Given the description of an element on the screen output the (x, y) to click on. 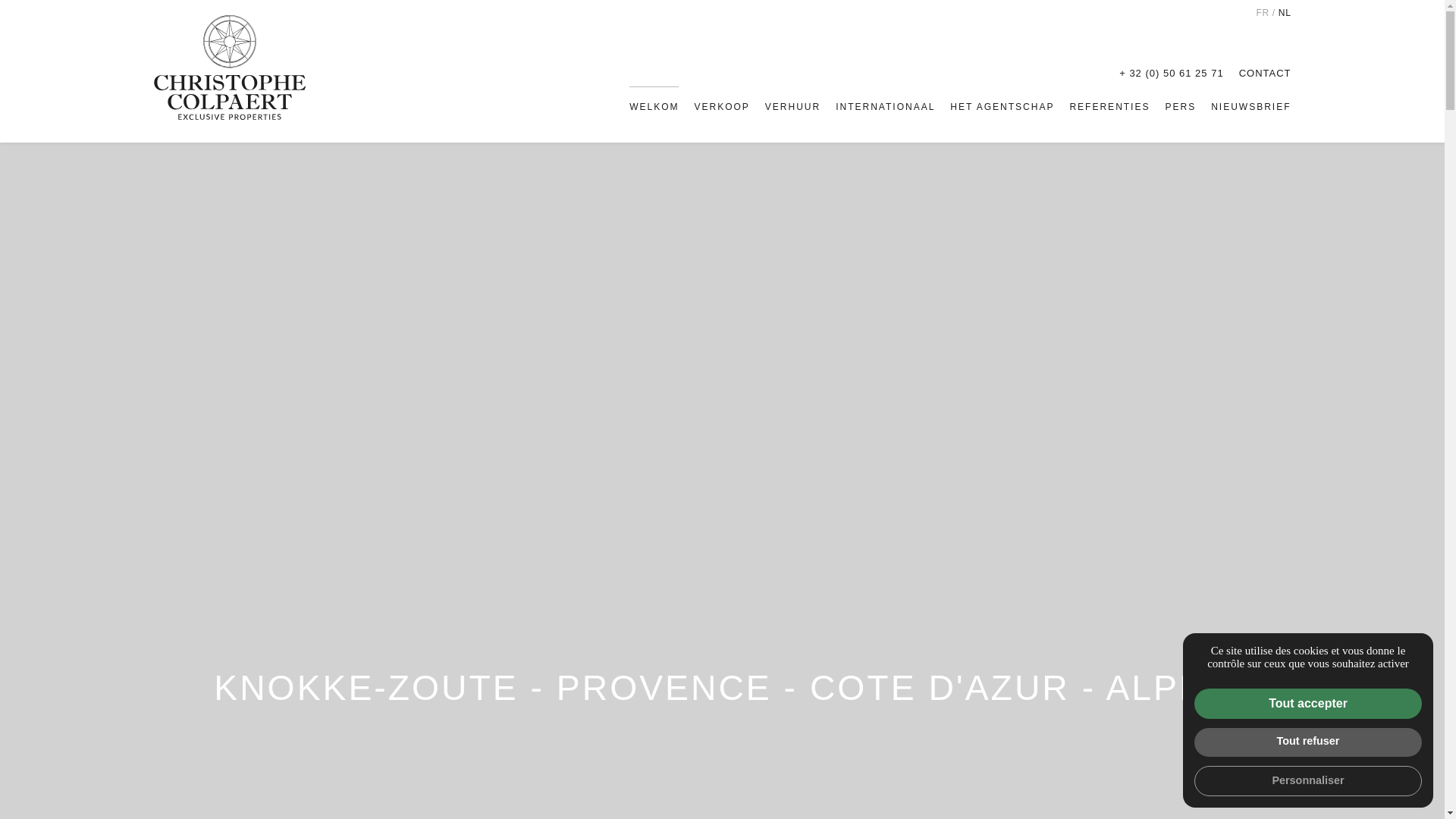
Tout accepter Element type: text (1307, 703)
WELKOM Element type: text (653, 106)
CONTACT Element type: text (1265, 72)
PERS Element type: text (1179, 106)
REFERENTIES Element type: text (1109, 106)
+ 32 (0) 50 61 25 71 Element type: text (1171, 73)
Tout refuser Element type: text (1307, 742)
HET AGENTSCHAP Element type: text (1002, 106)
VERHUUR Element type: text (792, 106)
FR Element type: text (1261, 12)
NL Element type: text (1284, 12)
Personnaliser Element type: text (1307, 780)
NIEUWSBRIEF Element type: text (1250, 106)
INTERNATIONAAL Element type: text (885, 106)
Christophe Colpaert Exclusive Properties Element type: hover (228, 67)
VERKOOP Element type: text (721, 106)
